Given the description of an element on the screen output the (x, y) to click on. 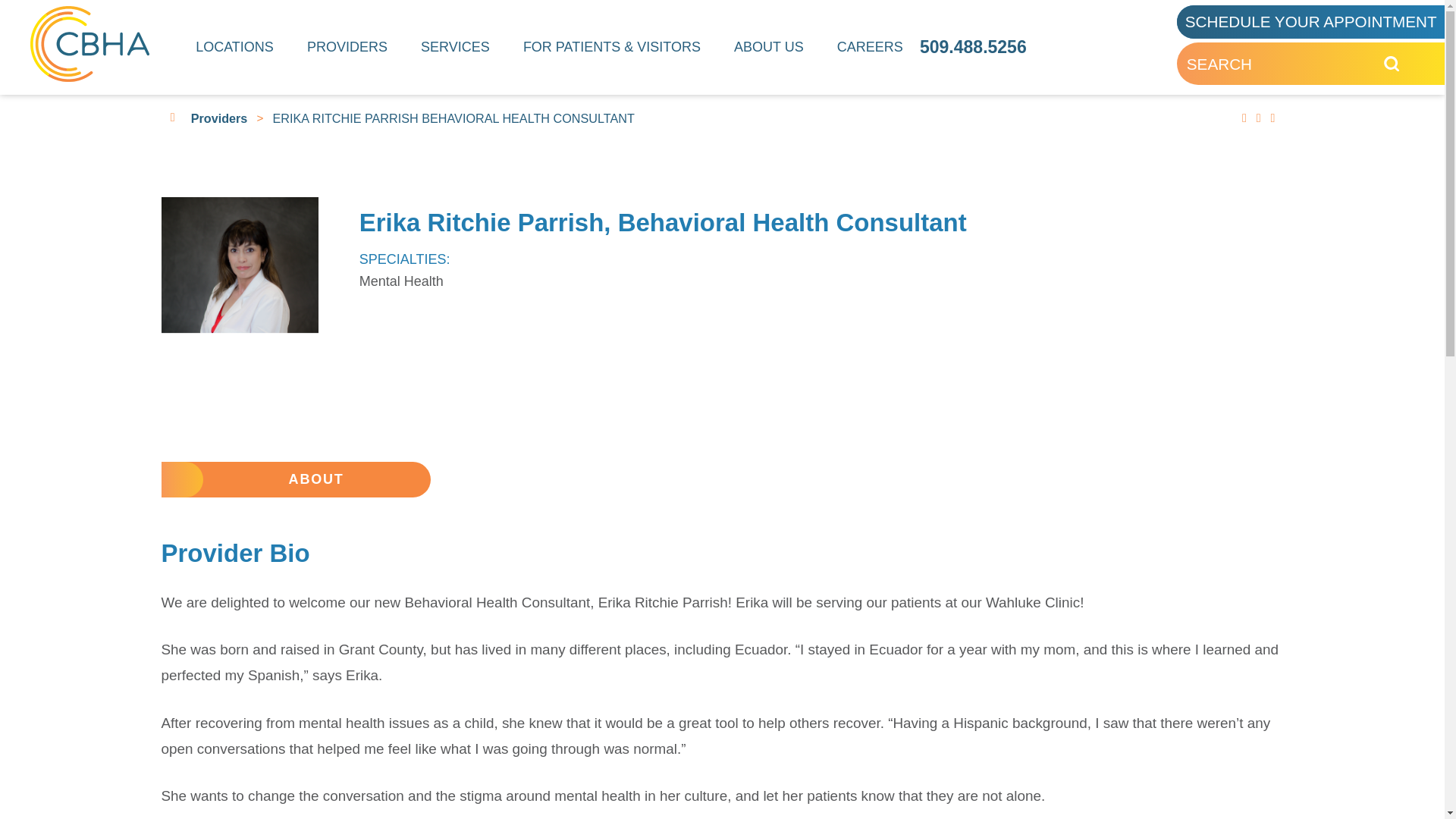
ABOUT US (768, 47)
PROVIDERS (346, 47)
LOCATIONS (235, 47)
Columbia Basin Health Organization (89, 43)
SERVICES (454, 47)
CAREERS (869, 47)
